Given the description of an element on the screen output the (x, y) to click on. 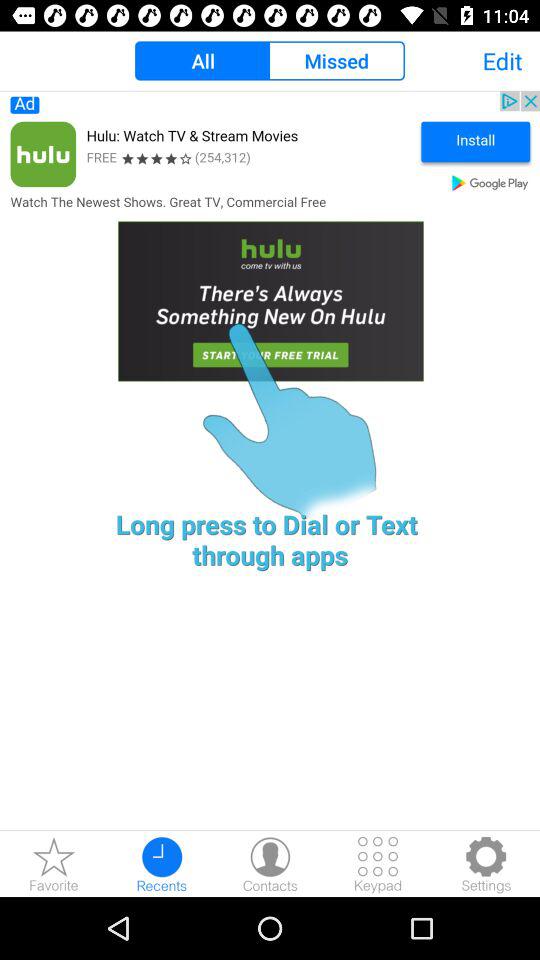
mark for later use favorite (53, 864)
